Given the description of an element on the screen output the (x, y) to click on. 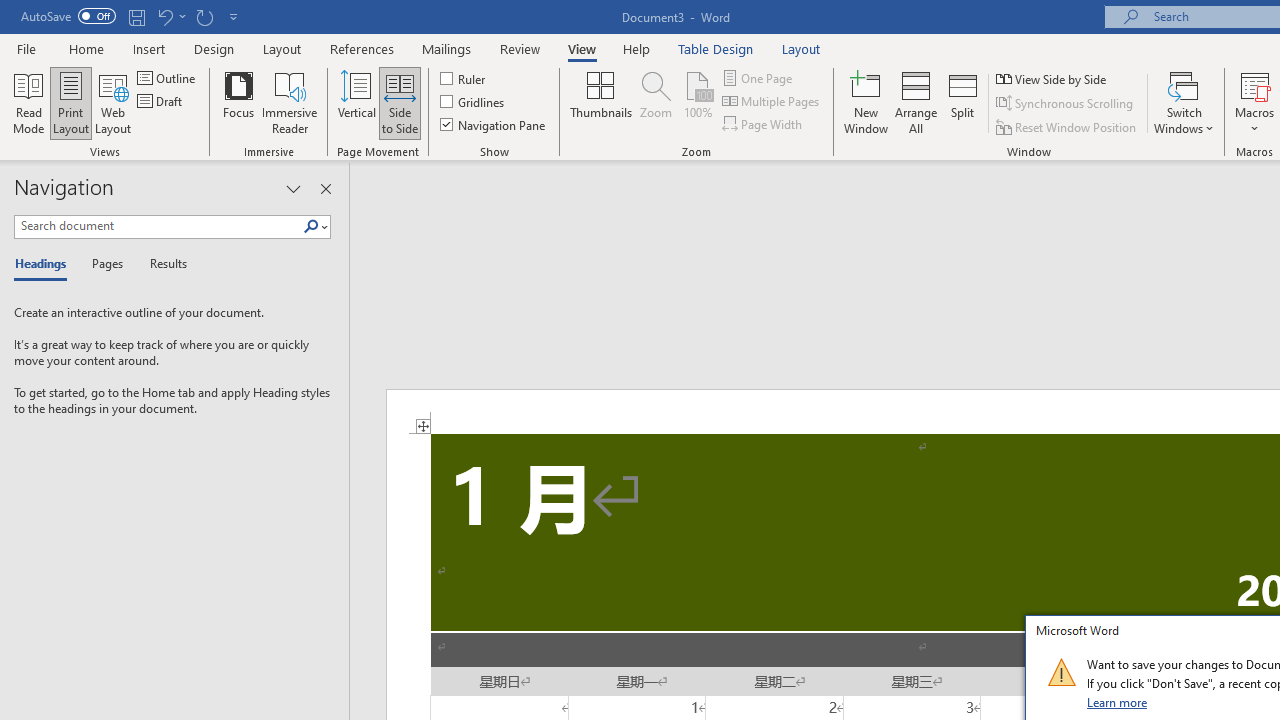
Multiple Pages (772, 101)
Split (963, 102)
Switch Windows (1184, 102)
Zoom... (655, 102)
Navigation Pane (493, 124)
Draft (161, 101)
